Given the description of an element on the screen output the (x, y) to click on. 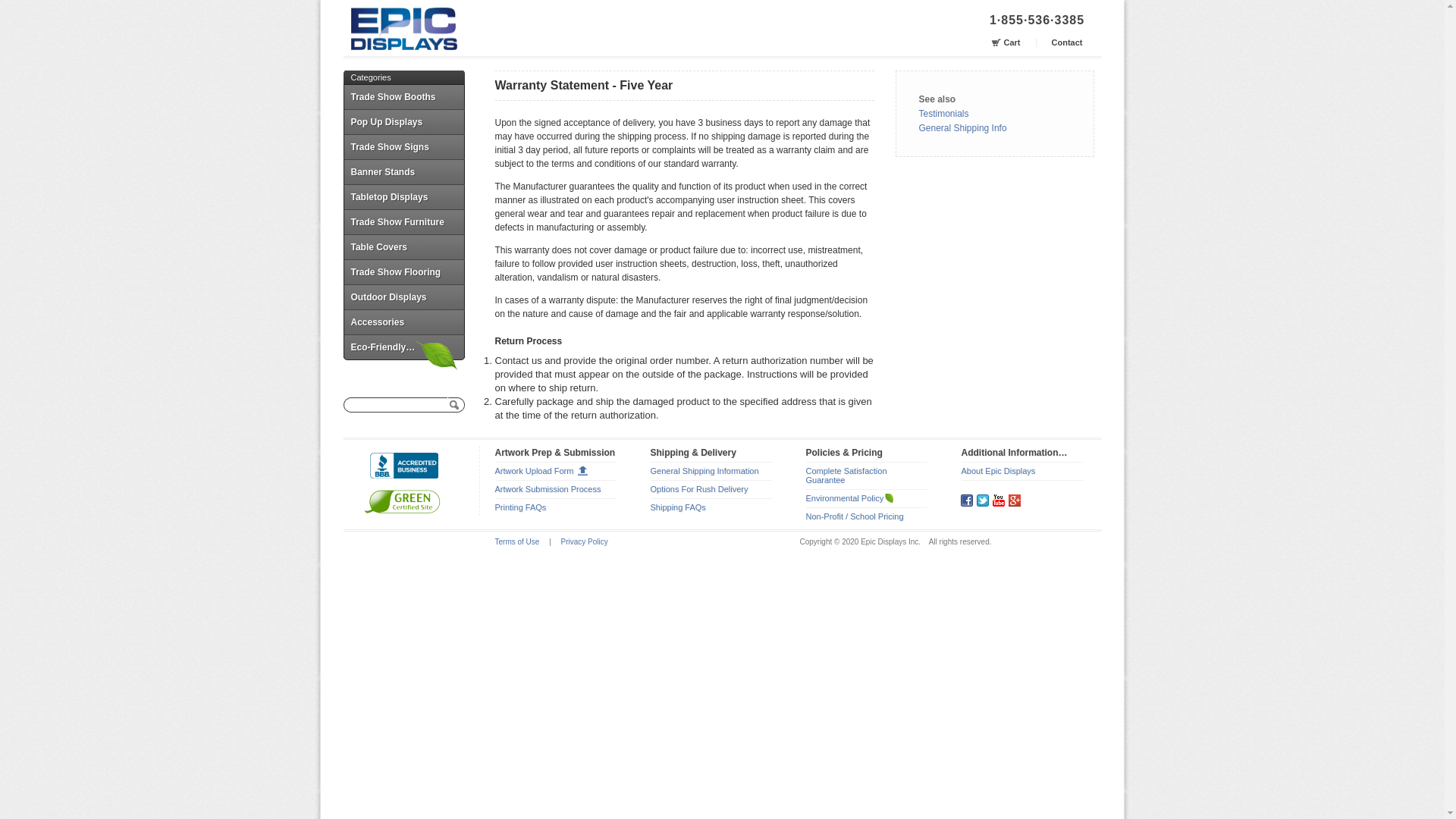
Artwork Submission Process (547, 488)
Cart (1012, 41)
Outdoor Displays (403, 296)
Banner Stands (403, 171)
Table Covers (403, 246)
View the Epic Displays YouTube Channel (998, 501)
Pop Up Displays (403, 121)
Trade Show Flooring (403, 271)
General Shipping Information (704, 470)
Follow Epic Displays on Twitter (983, 501)
Artwork Upload Form (541, 470)
Trade Show Signs (403, 146)
Contact (1059, 41)
Shipping FAQs (678, 506)
About Epic Displays (997, 470)
